Given the description of an element on the screen output the (x, y) to click on. 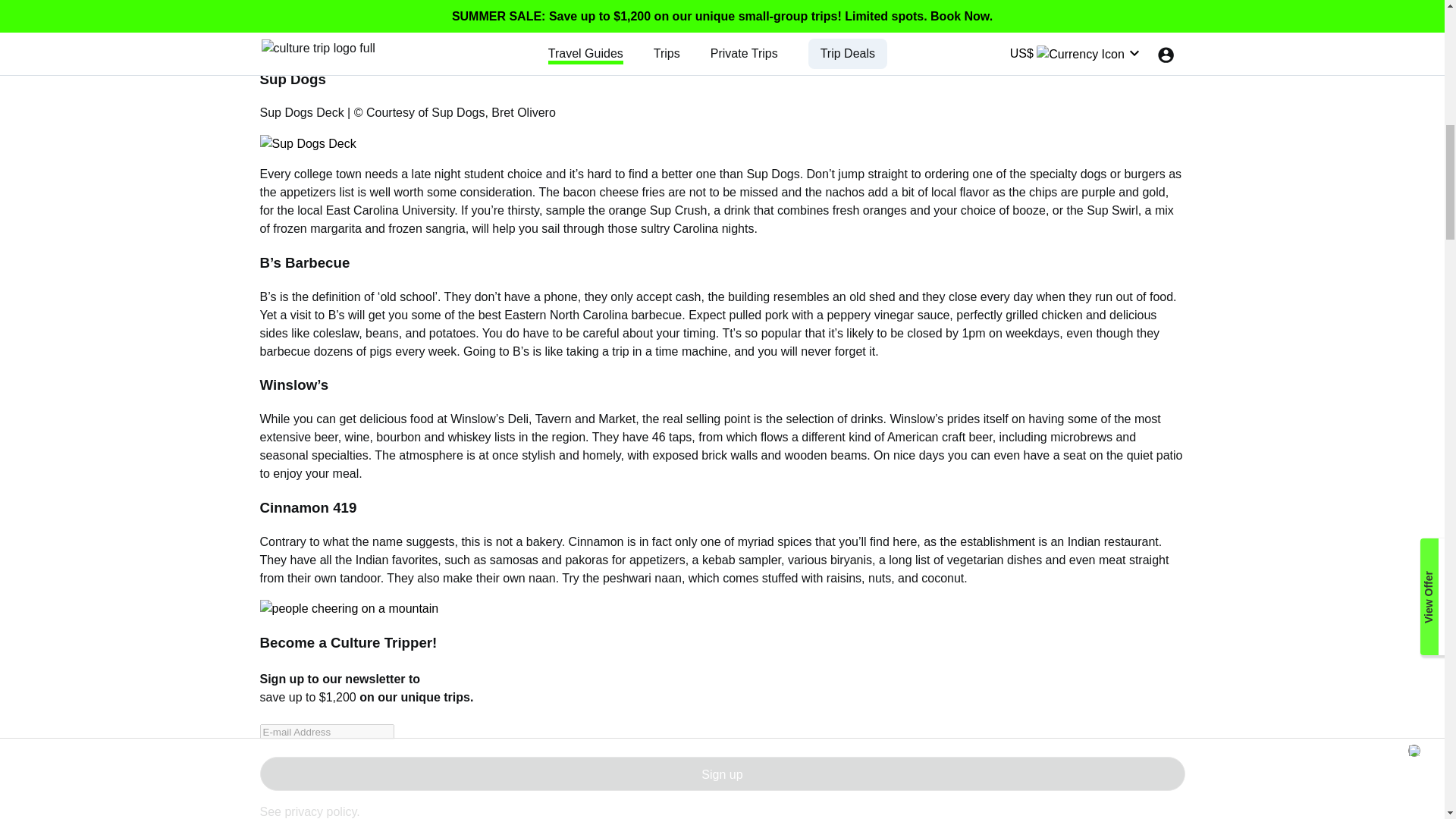
French (388, 26)
Cinnamon (596, 541)
North Carolina (588, 314)
restaurant (1130, 541)
Indian (1083, 541)
